Given the description of an element on the screen output the (x, y) to click on. 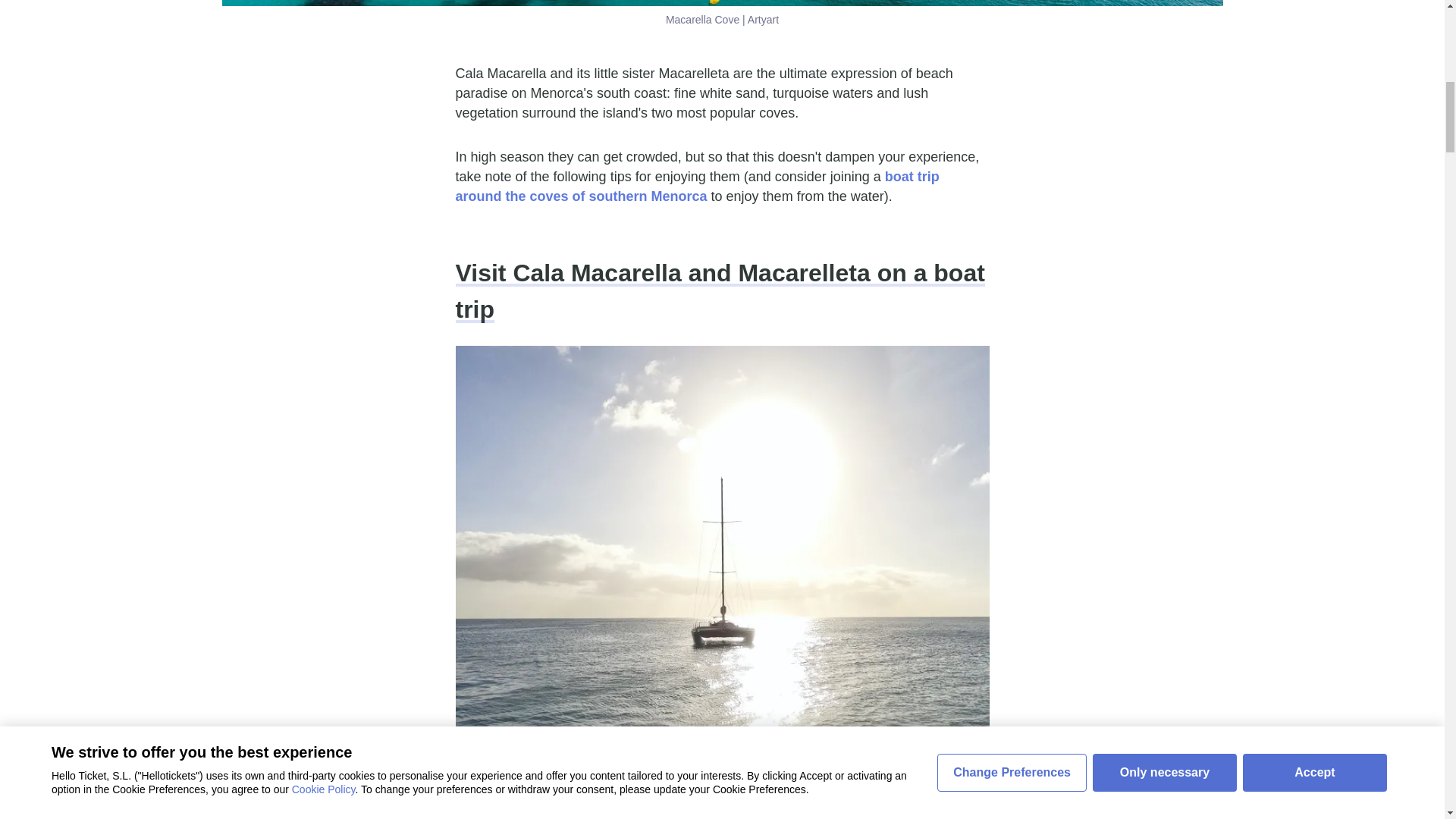
boat trip around the coves of southern Menorca (696, 185)
